Given the description of an element on the screen output the (x, y) to click on. 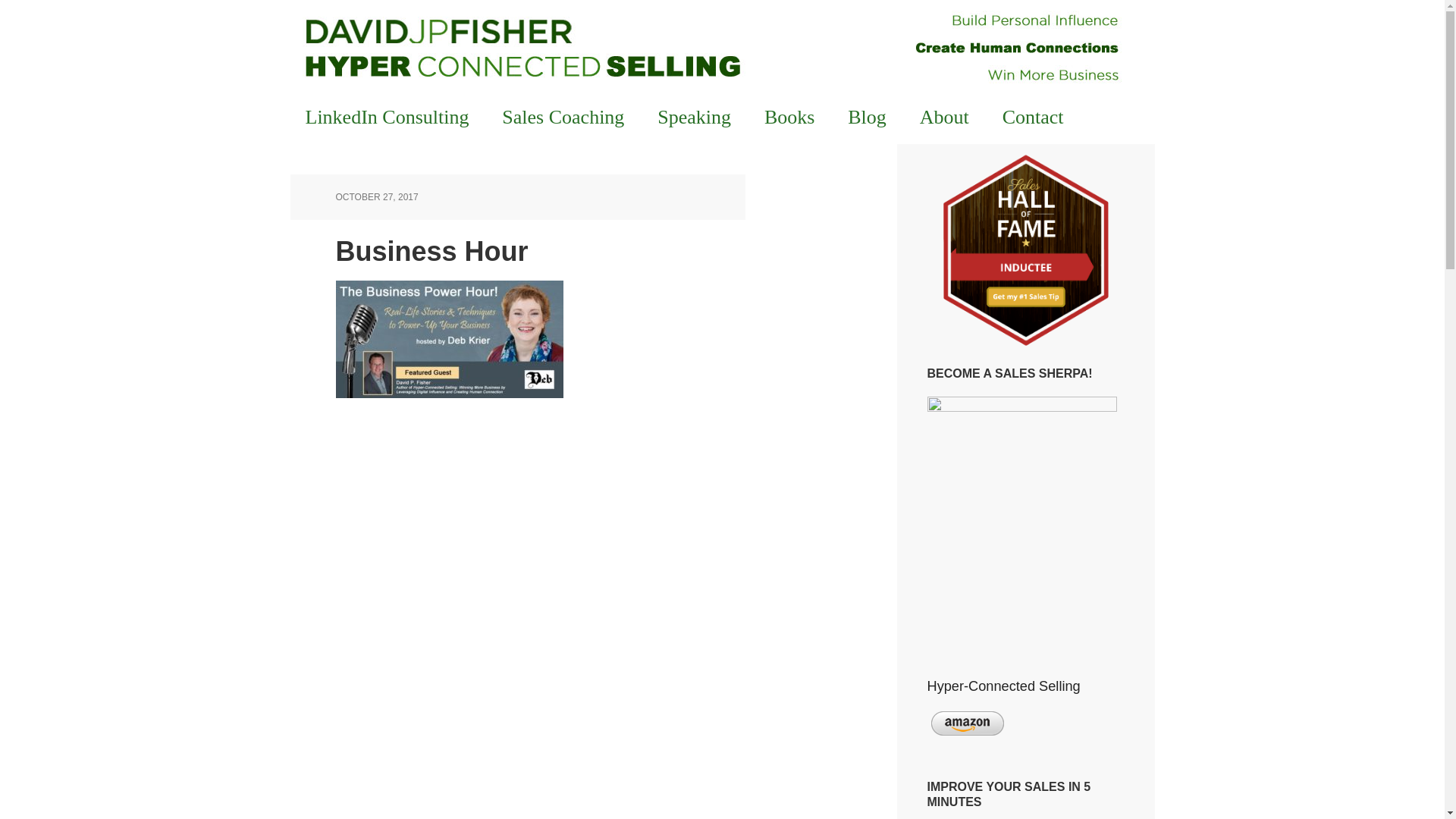
Sales Coaching (562, 117)
Speaking (693, 117)
Blog (866, 117)
LinkedIn Consulting (386, 117)
Contact (1032, 117)
About (944, 117)
Books (789, 117)
